Given the description of an element on the screen output the (x, y) to click on. 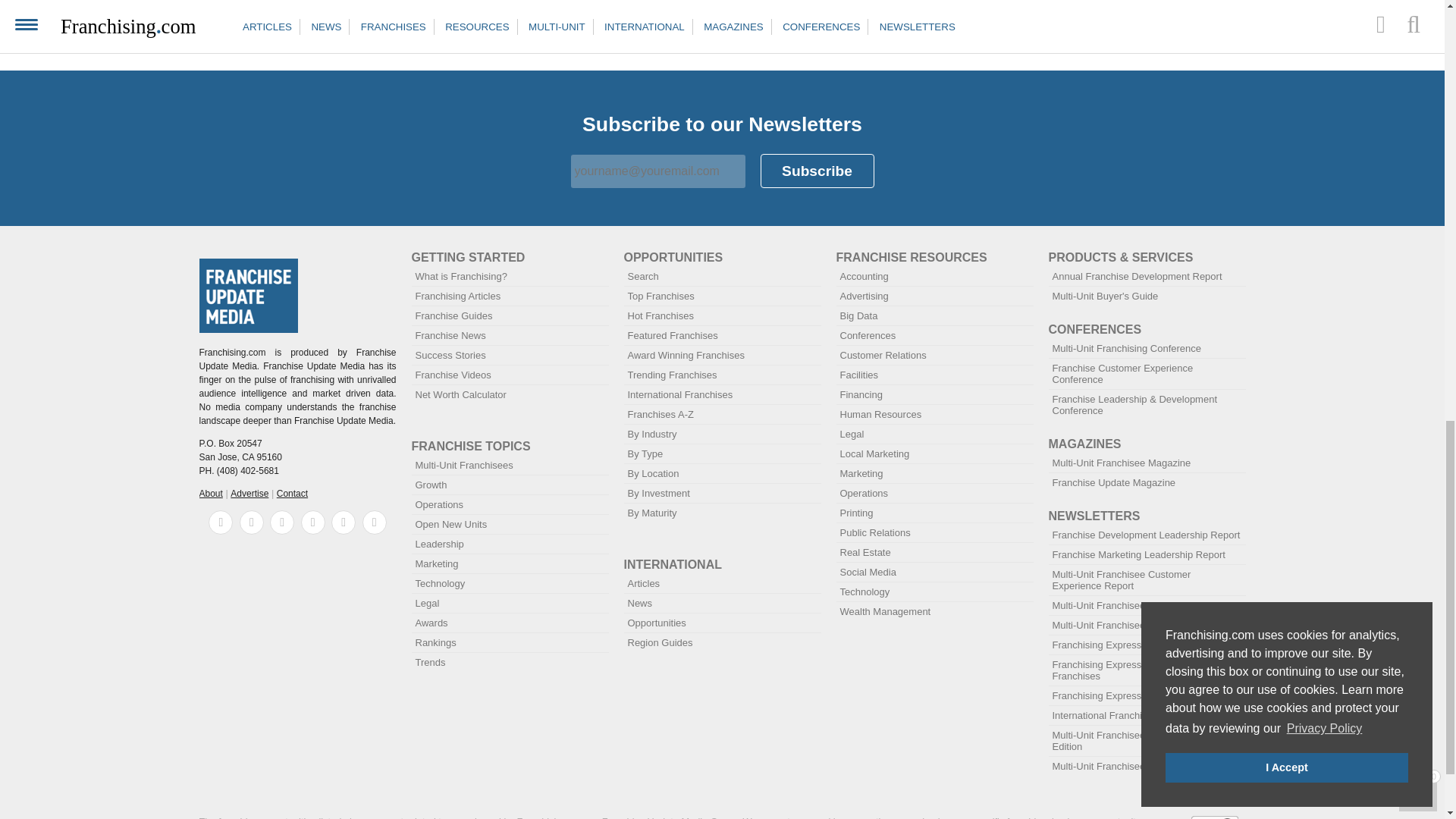
Subscribe (816, 170)
